Given the description of an element on the screen output the (x, y) to click on. 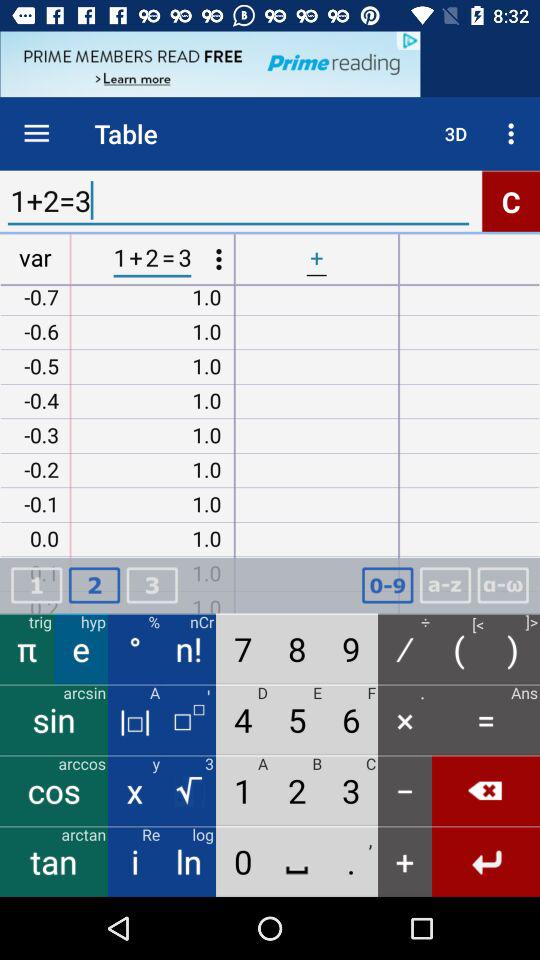
formula page (503, 585)
